Given the description of an element on the screen output the (x, y) to click on. 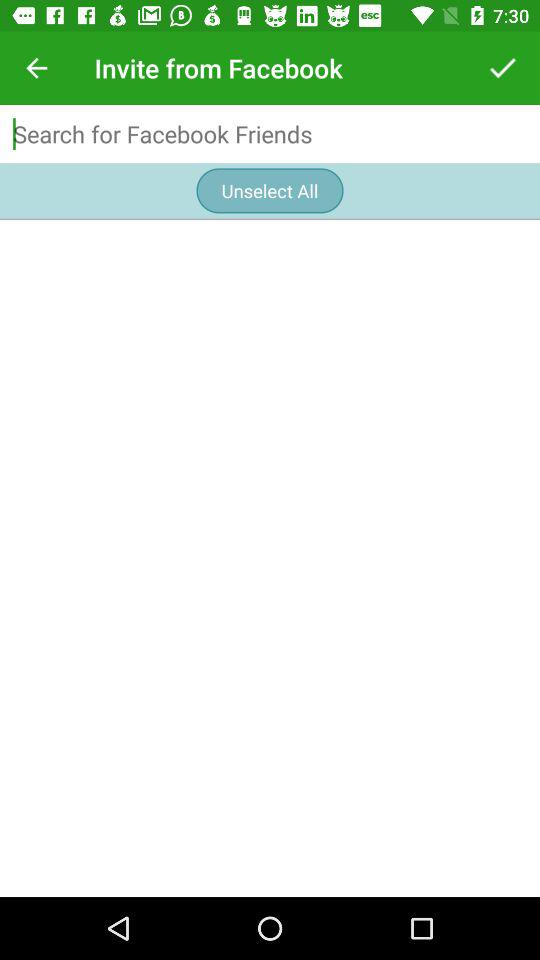
search for facebook friends (269, 134)
